Given the description of an element on the screen output the (x, y) to click on. 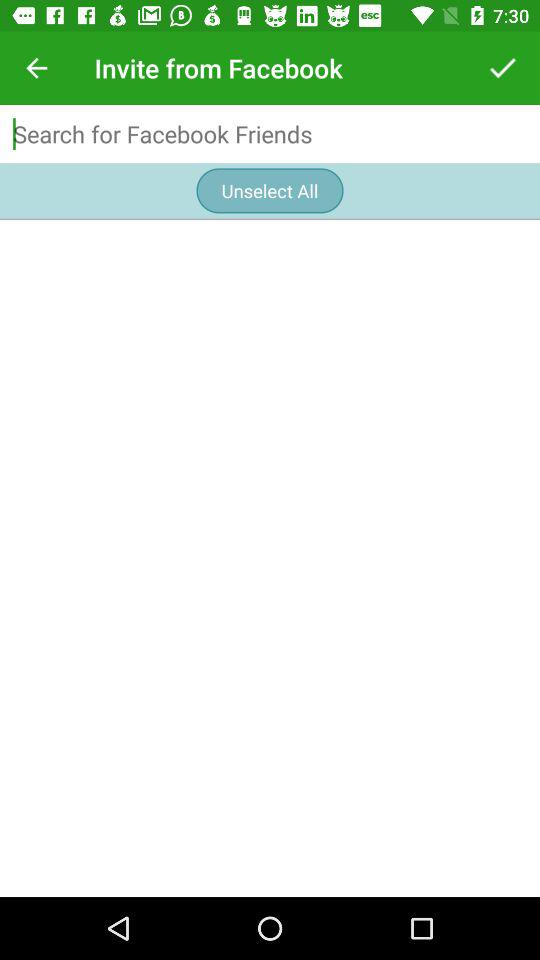
search for facebook friends (269, 134)
